Given the description of an element on the screen output the (x, y) to click on. 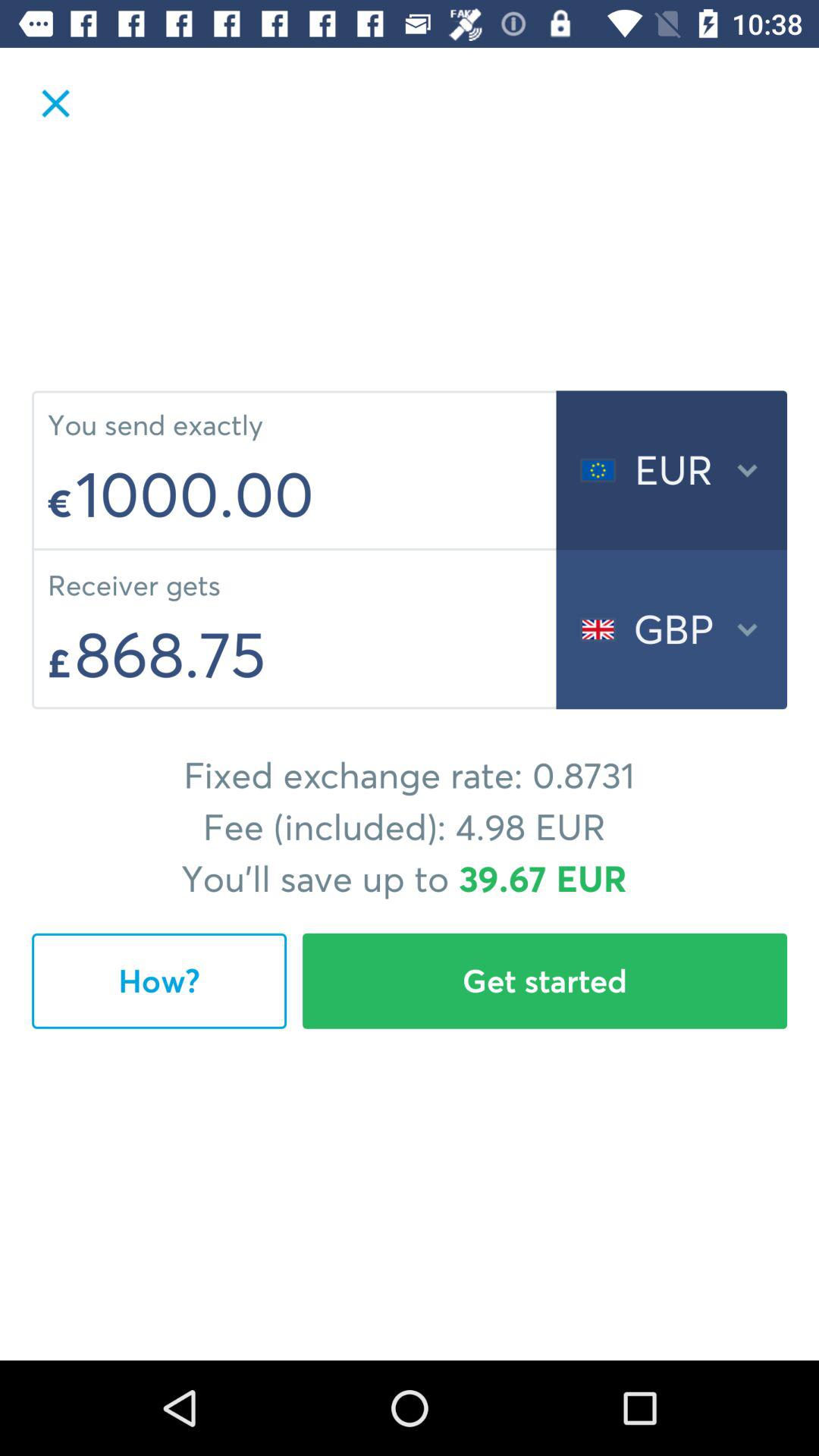
turn on the item next to the get started icon (158, 980)
